Given the description of an element on the screen output the (x, y) to click on. 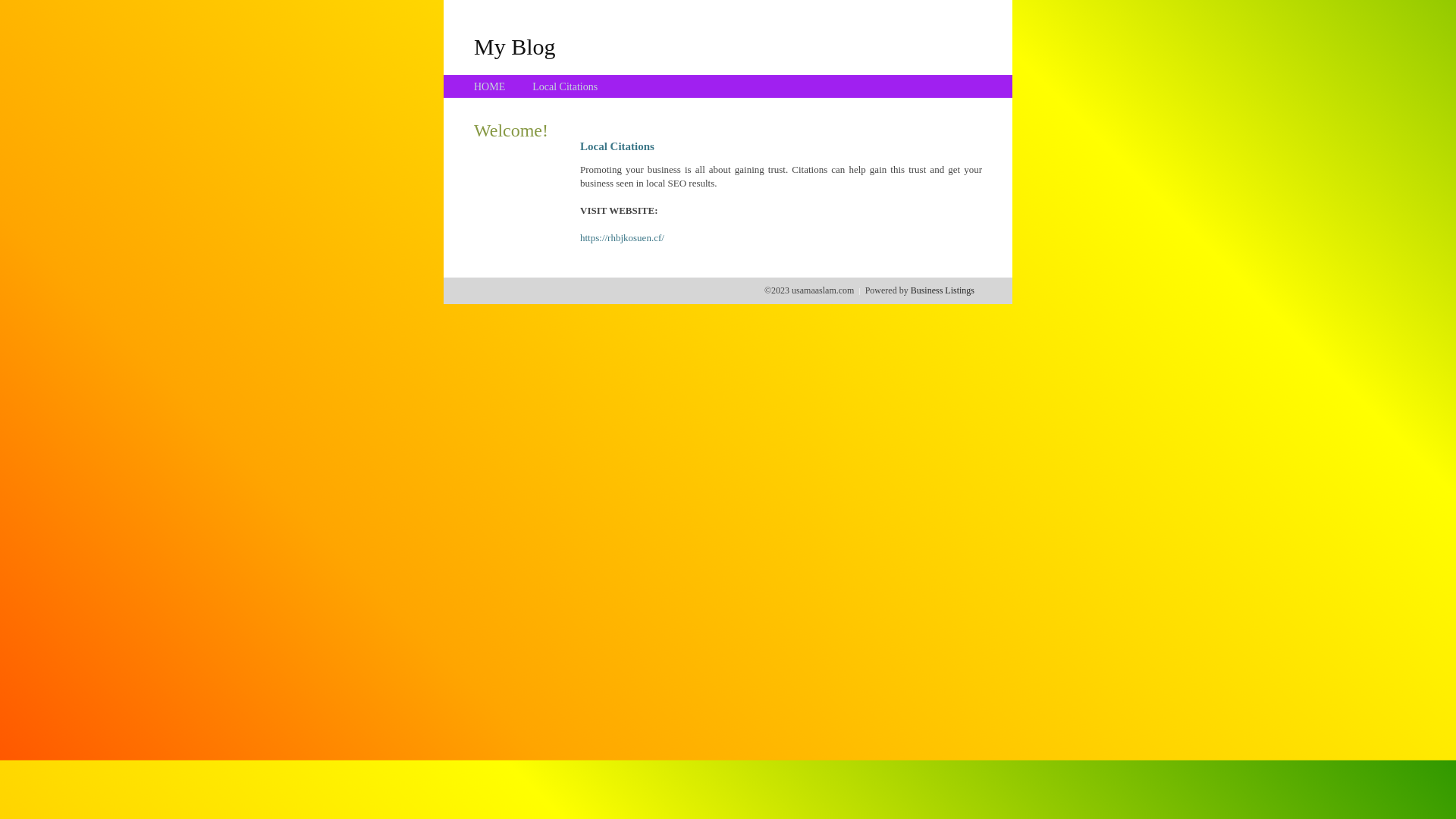
Business Listings Element type: text (942, 290)
HOME Element type: text (489, 86)
Local Citations Element type: text (564, 86)
https://rhbjkosuen.cf/ Element type: text (622, 237)
My Blog Element type: text (514, 46)
